Given the description of an element on the screen output the (x, y) to click on. 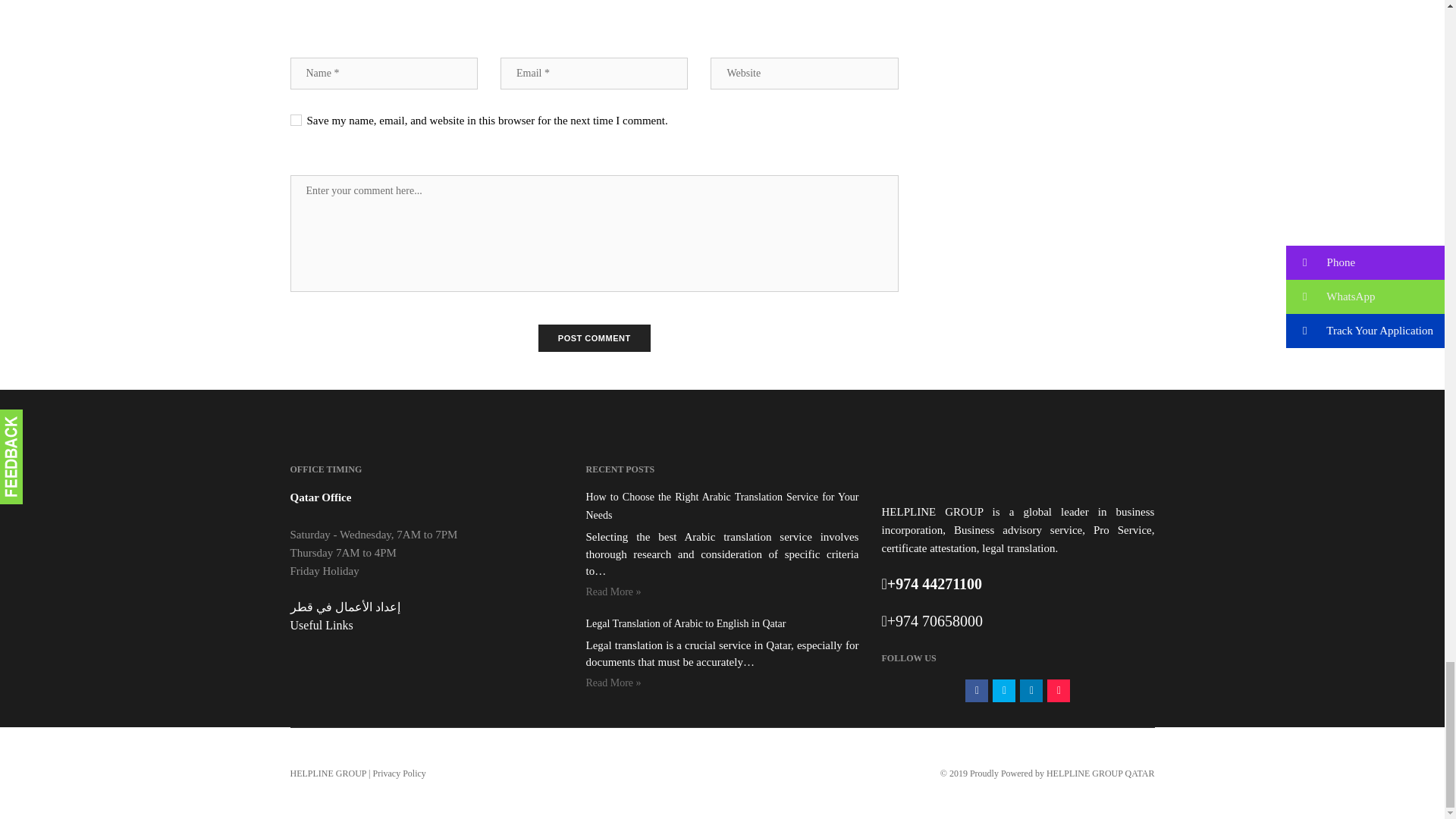
yes (295, 120)
Post Comment (594, 338)
